Given the description of an element on the screen output the (x, y) to click on. 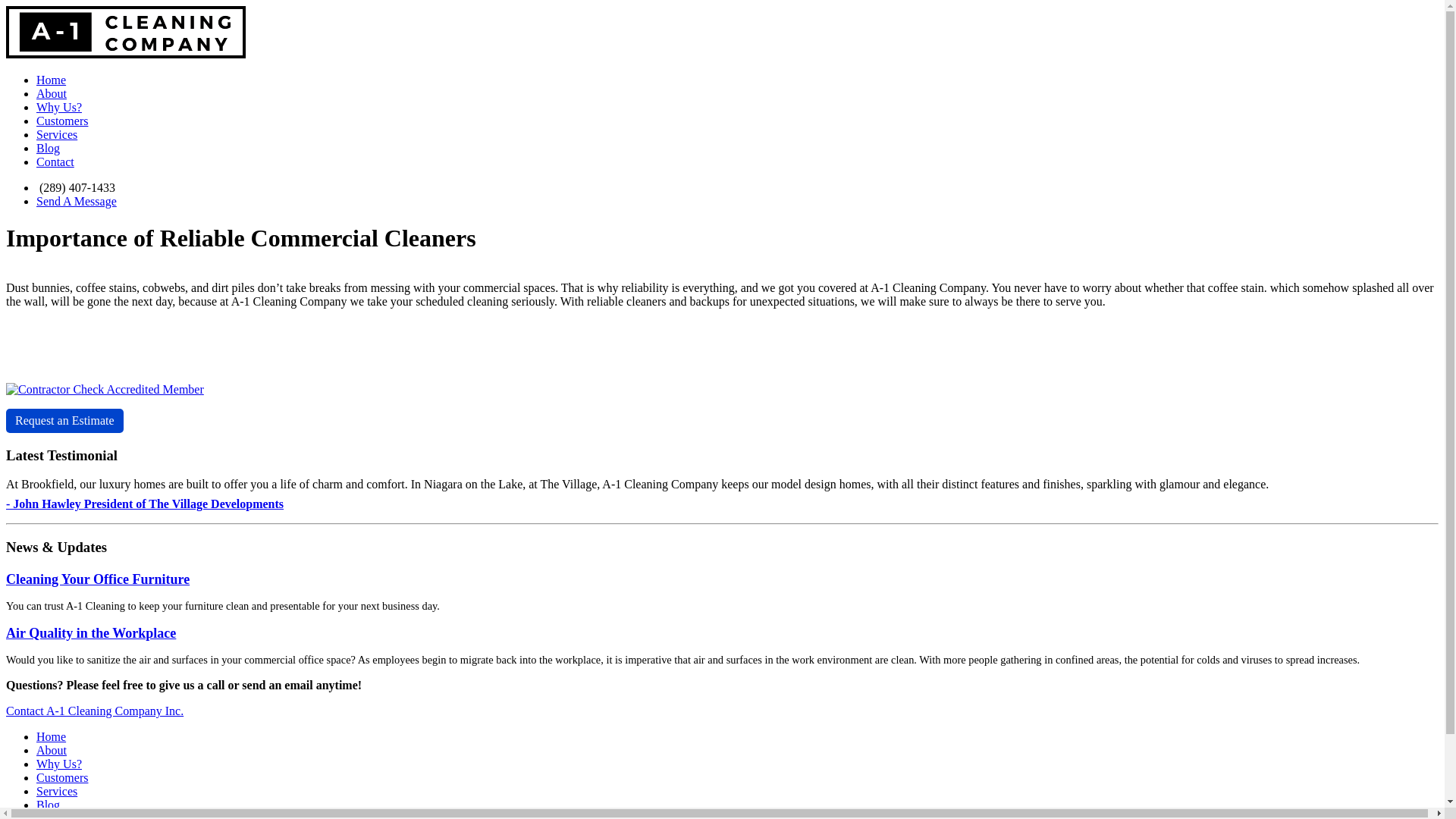
Contact A-1 Cleaning Company Inc. Element type: text (94, 710)
Customers Element type: text (61, 777)
Services Element type: text (56, 790)
Blog Element type: text (47, 804)
- John Hawley President of The Village Developments Element type: text (144, 503)
Why Us? Element type: text (58, 106)
Blog Element type: text (47, 147)
Contractor Check Accredited Member Element type: hover (104, 388)
Why Us? Element type: text (58, 763)
About Element type: text (51, 749)
Home Element type: text (50, 736)
Customers Element type: text (61, 120)
Air Quality in the Workplace Element type: text (90, 632)
Home Element type: text (50, 79)
Send A Message Element type: text (76, 200)
Request an Estimate Element type: text (64, 420)
Contact Element type: text (55, 161)
Cleaning Your Office Furniture Element type: text (97, 578)
About Element type: text (51, 93)
Services Element type: text (56, 134)
